Given the description of an element on the screen output the (x, y) to click on. 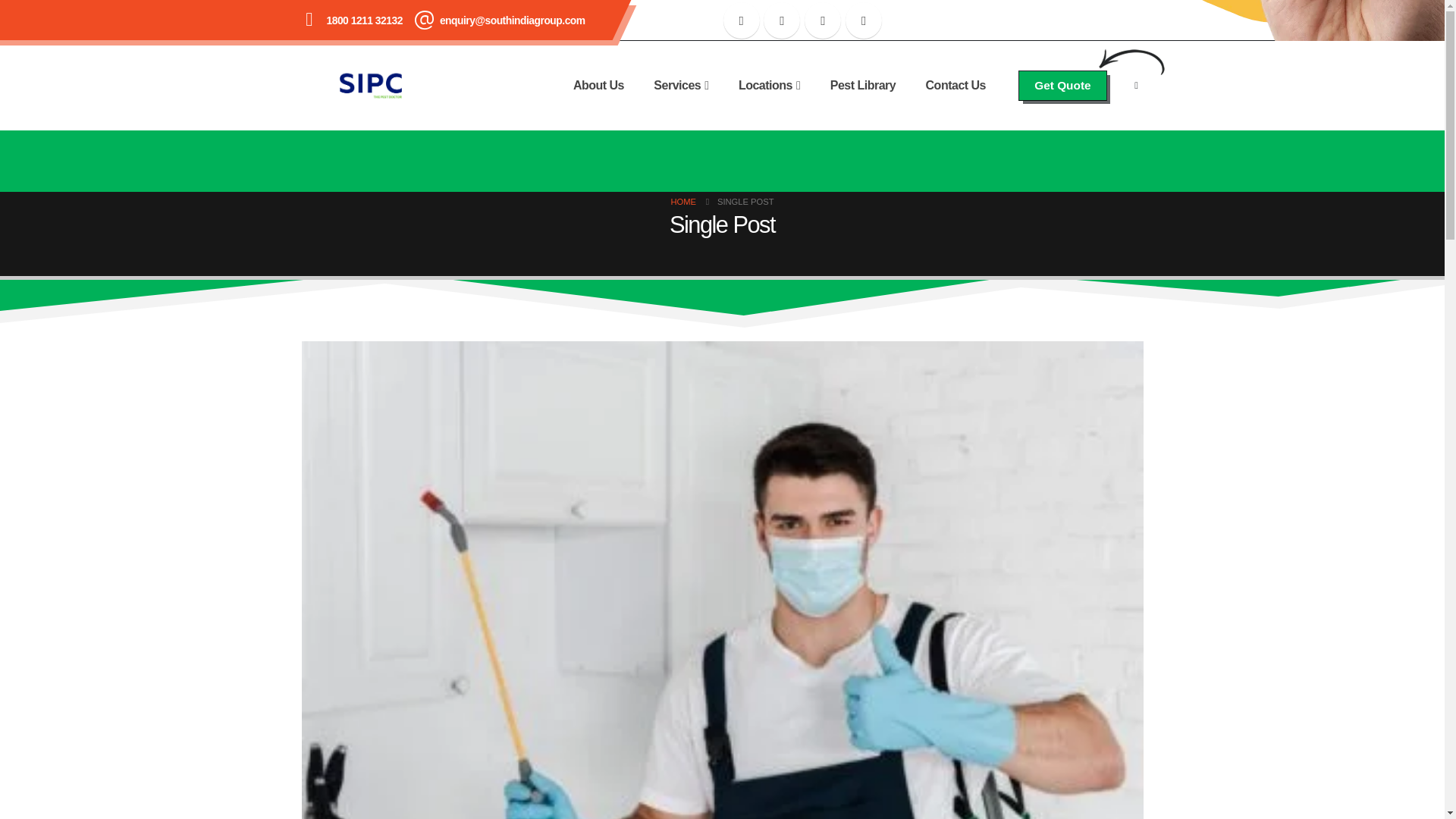
1800 1211 32132 (363, 20)
Instagram (823, 19)
Facebook (741, 19)
Twitter (780, 19)
Locations (769, 84)
SIPC -  (370, 85)
About Us (599, 84)
LinkedIn (863, 19)
south India pest control (865, 626)
Services (681, 84)
Go to Home Page (682, 201)
